Given the description of an element on the screen output the (x, y) to click on. 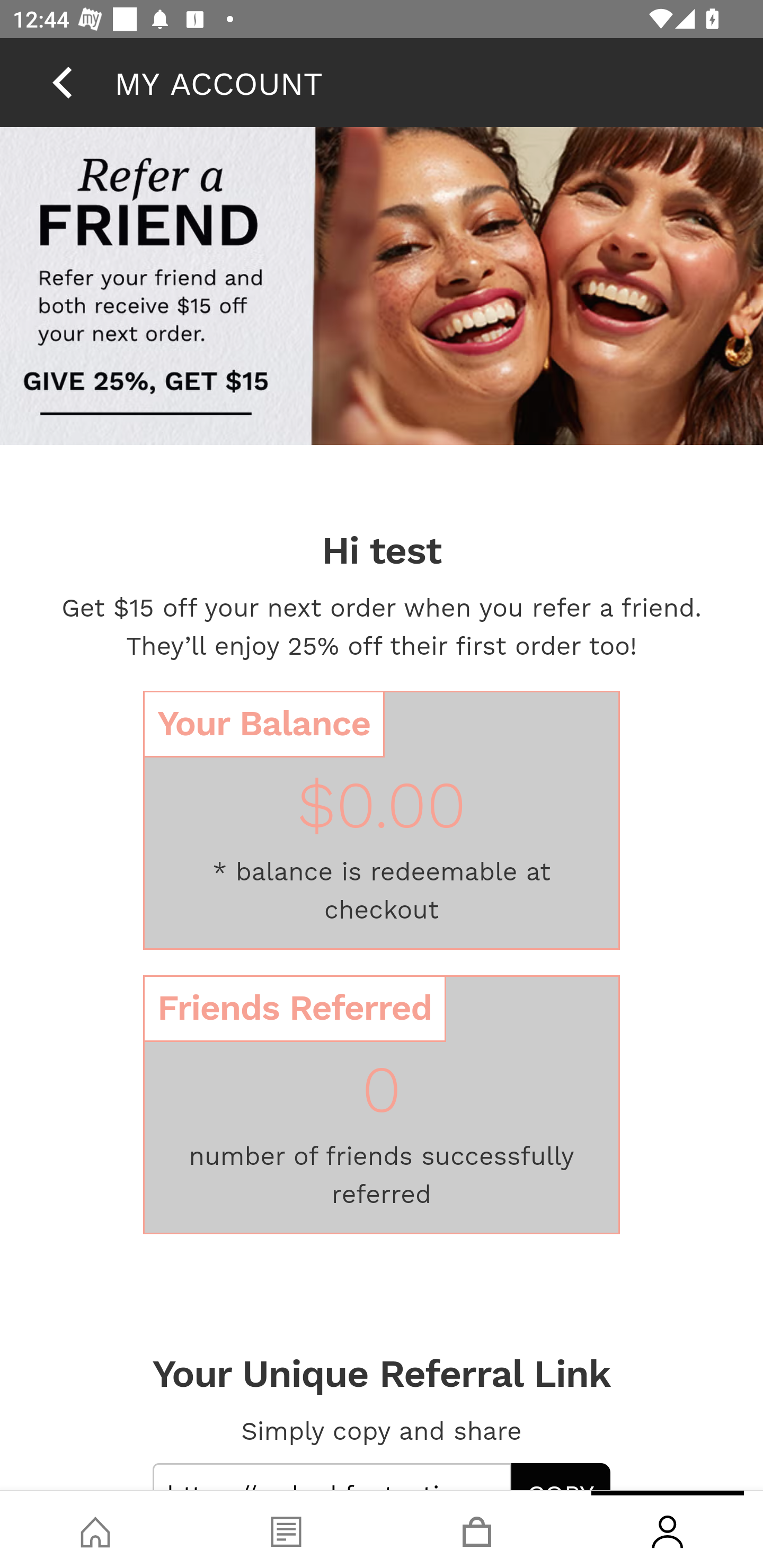
back (61, 82)
raf (381, 288)
Shop, tab, 1 of 4 (95, 1529)
Blog, tab, 2 of 4 (285, 1529)
Basket, tab, 3 of 4 (476, 1529)
Account, tab, 4 of 4 (667, 1529)
